Given the description of an element on the screen output the (x, y) to click on. 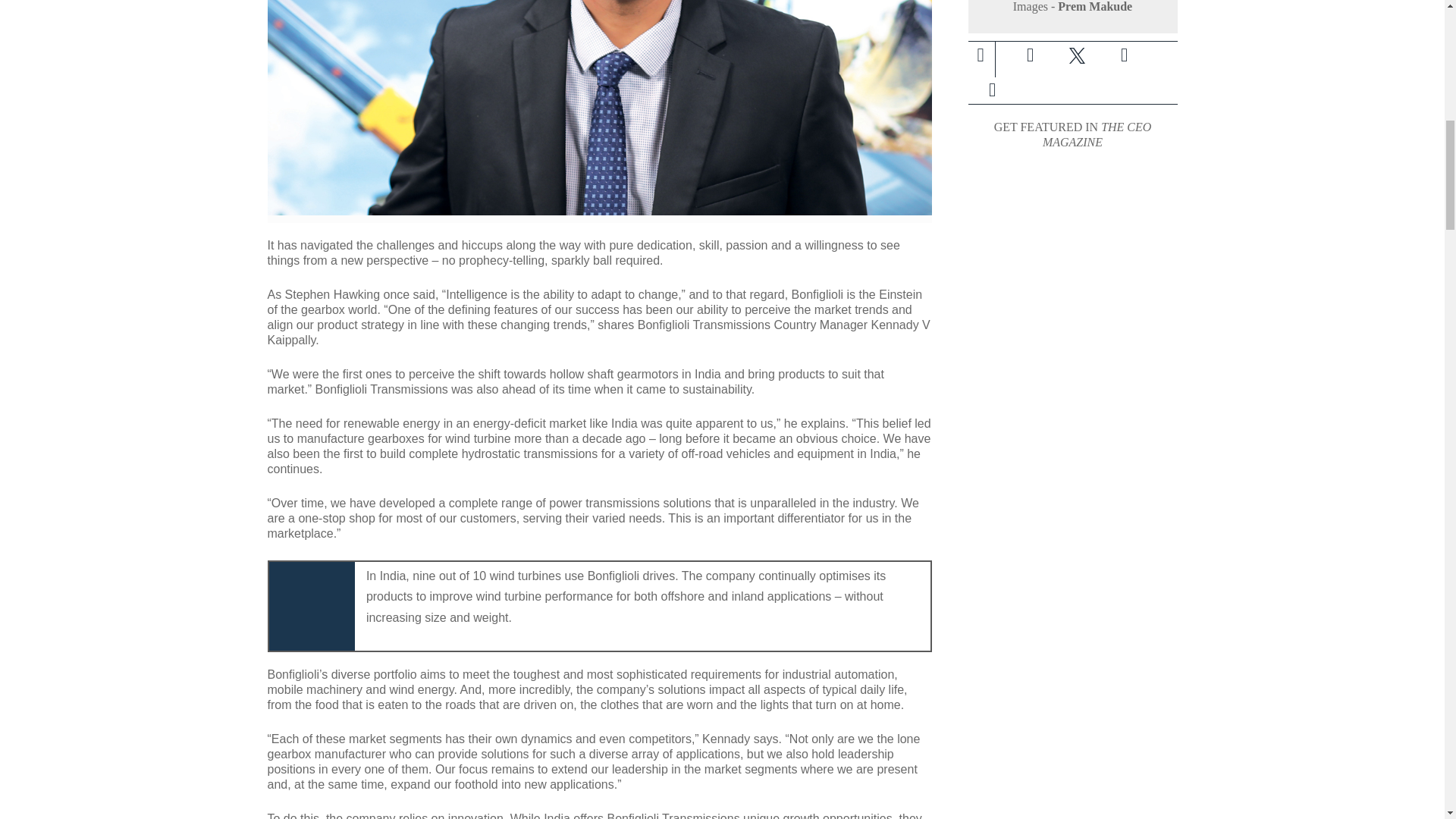
Share to Linkedin (1123, 54)
Share to Twitter (1076, 54)
Sign-up (991, 90)
Share to Facebook (1029, 54)
Subscribe (991, 90)
